Given the description of an element on the screen output the (x, y) to click on. 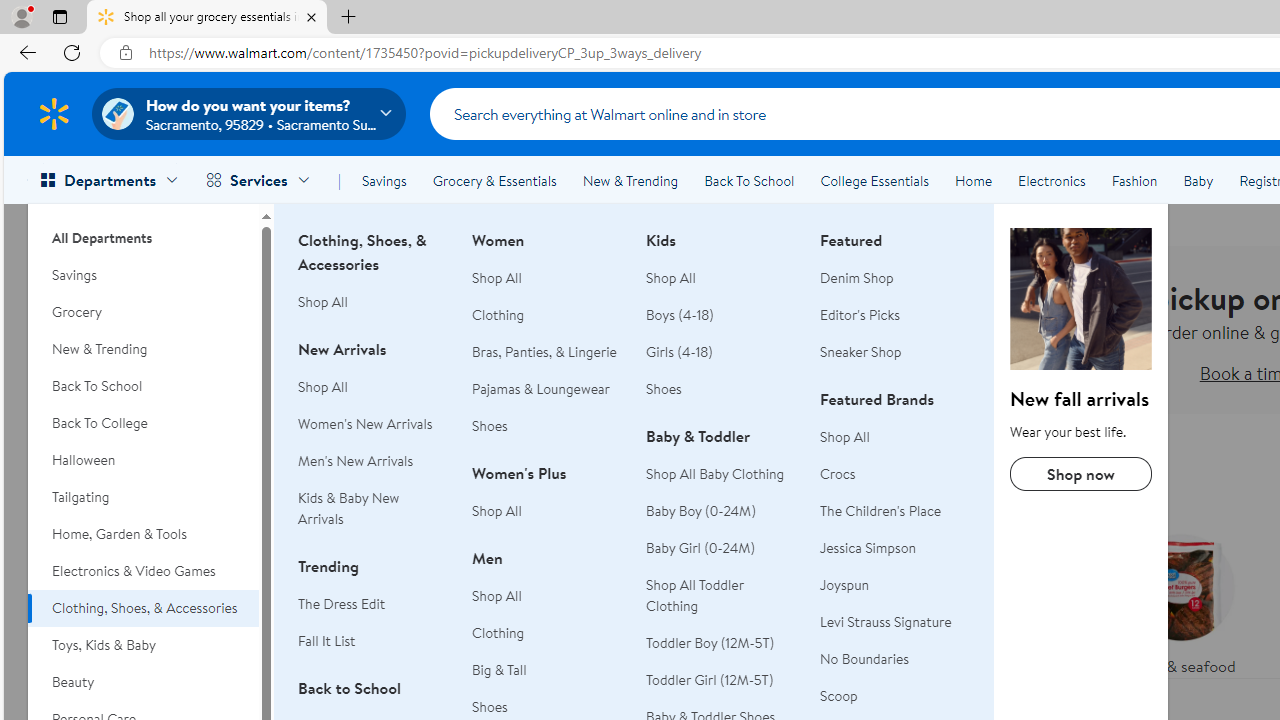
College Essentials (874, 180)
TrendingThe Dress EditFall It List (373, 614)
Denim Shop (856, 277)
Joyspun (845, 584)
Kids & Baby New Arrivals (348, 508)
Men's New Arrivals (355, 460)
Savings (143, 275)
The Children's Place (881, 511)
Scoop (895, 696)
Crocs (838, 473)
Clothing (498, 632)
Back To School (749, 180)
Electronics & Video Games (143, 570)
